Given the description of an element on the screen output the (x, y) to click on. 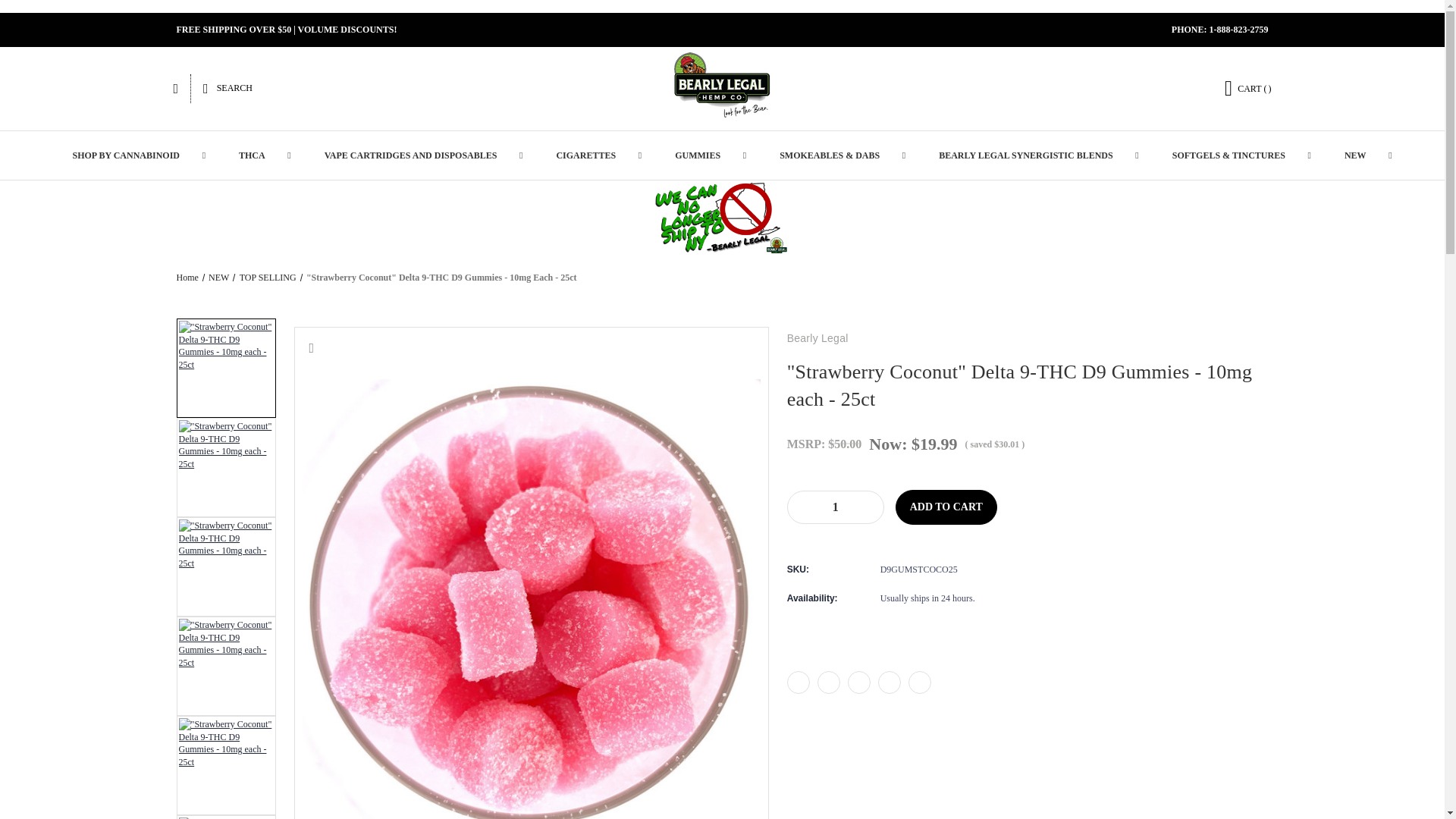
1-888-823-2759 (1238, 29)
Add to Cart (946, 506)
SEARCH (227, 88)
SHOP BY CANNABINOID (128, 155)
1 (835, 507)
CART (1248, 88)
Bearly Legal Hemp (722, 88)
